Given the description of an element on the screen output the (x, y) to click on. 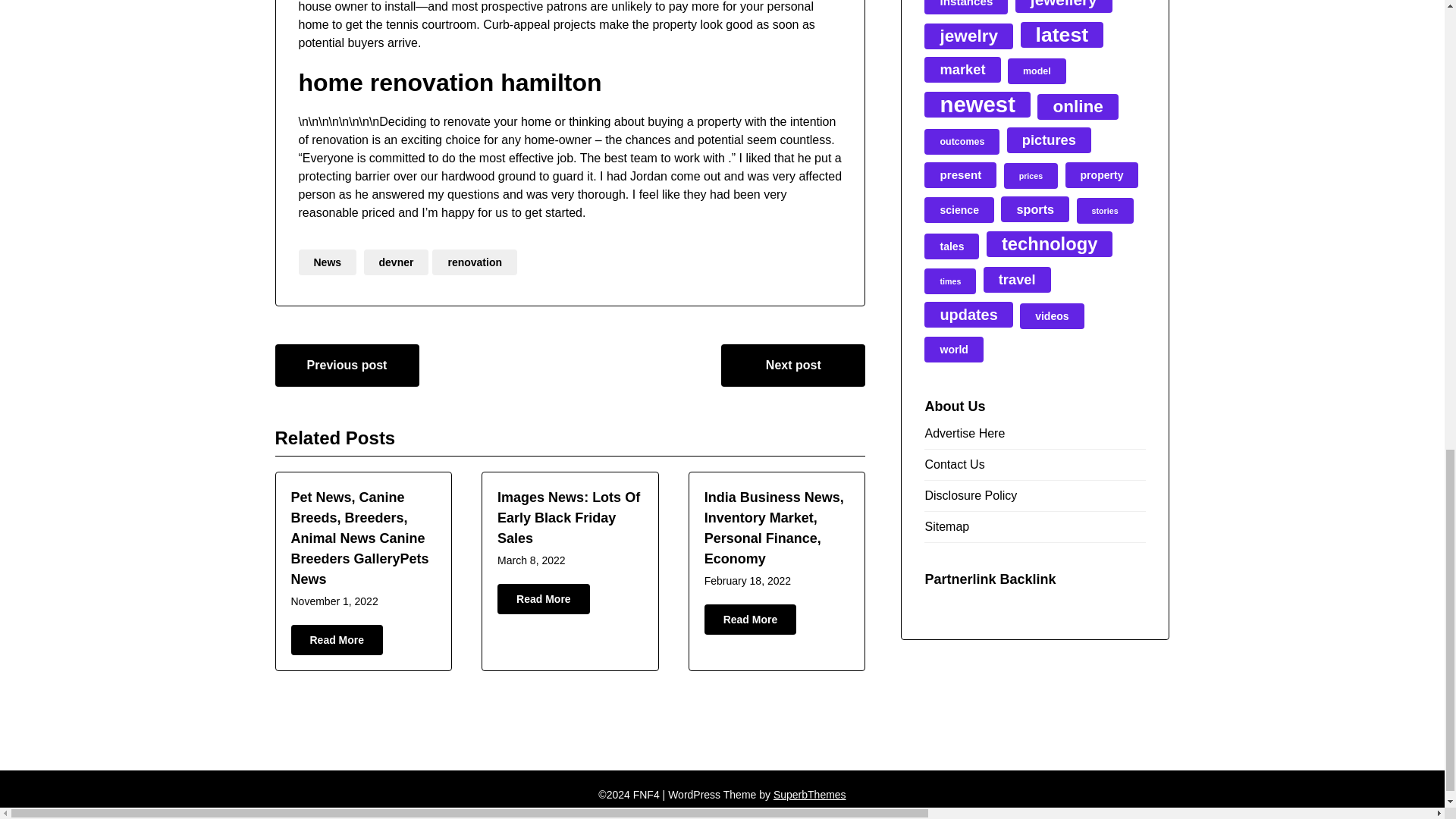
February 18, 2022 (747, 580)
Previous post (347, 364)
Read More (337, 639)
Read More (750, 619)
Next post (792, 364)
Read More (543, 598)
devner (396, 262)
March 8, 2022 (531, 560)
